Given the description of an element on the screen output the (x, y) to click on. 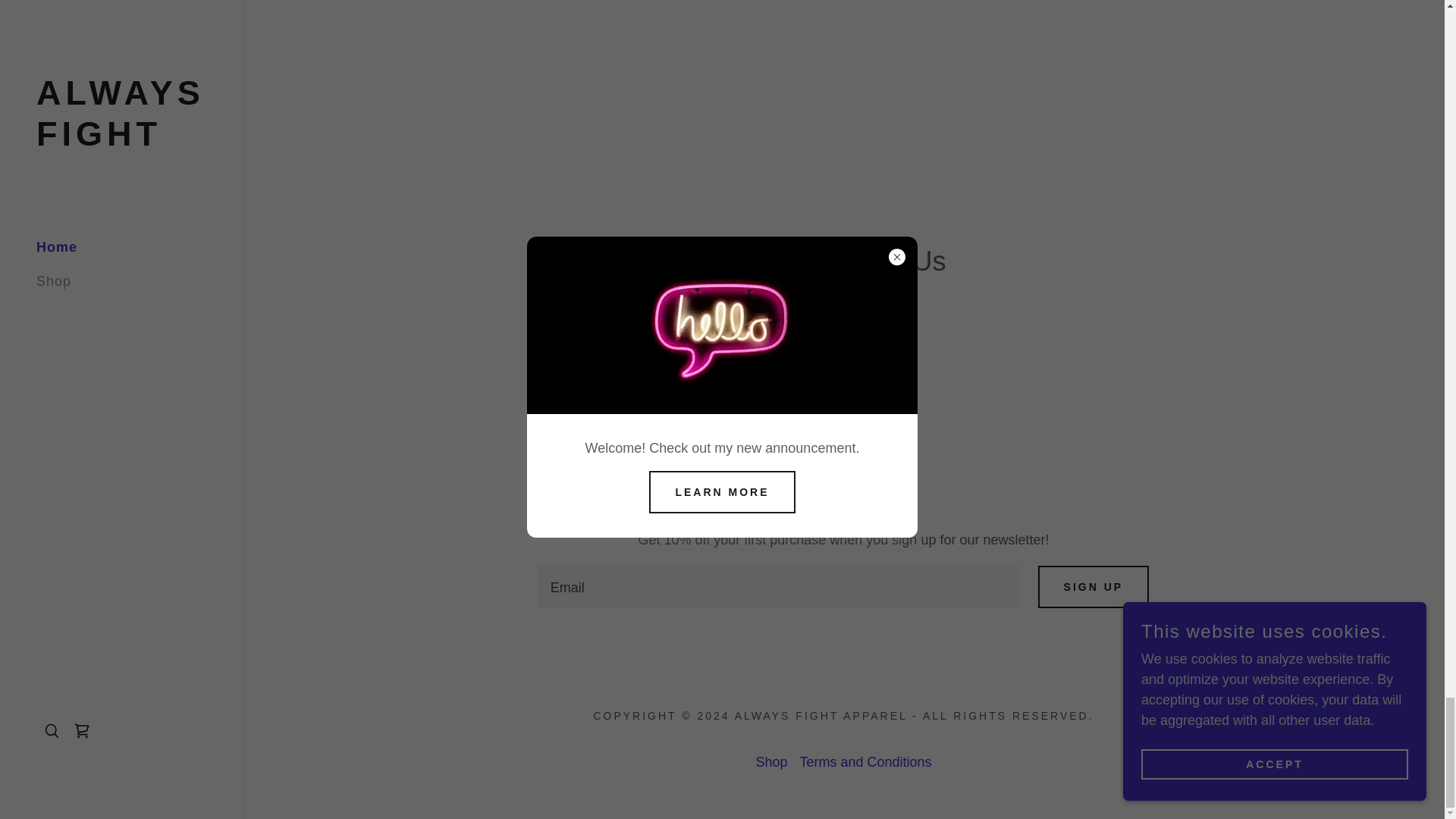
Shop (771, 762)
Terms and Conditions (865, 762)
SIGN UP (1094, 586)
